Given the description of an element on the screen output the (x, y) to click on. 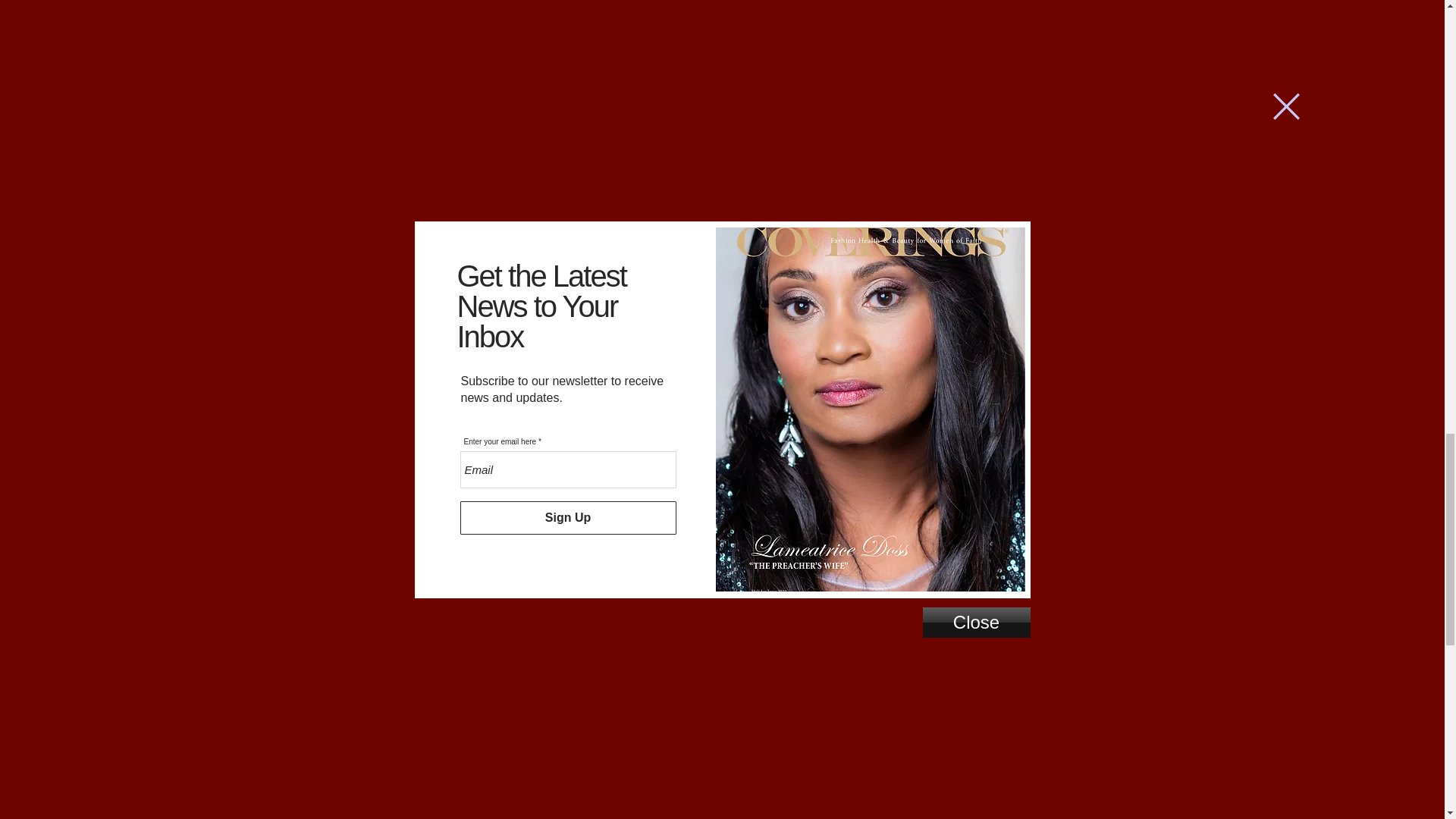
Digital Magazine (938, 765)
